Given the description of an element on the screen output the (x, y) to click on. 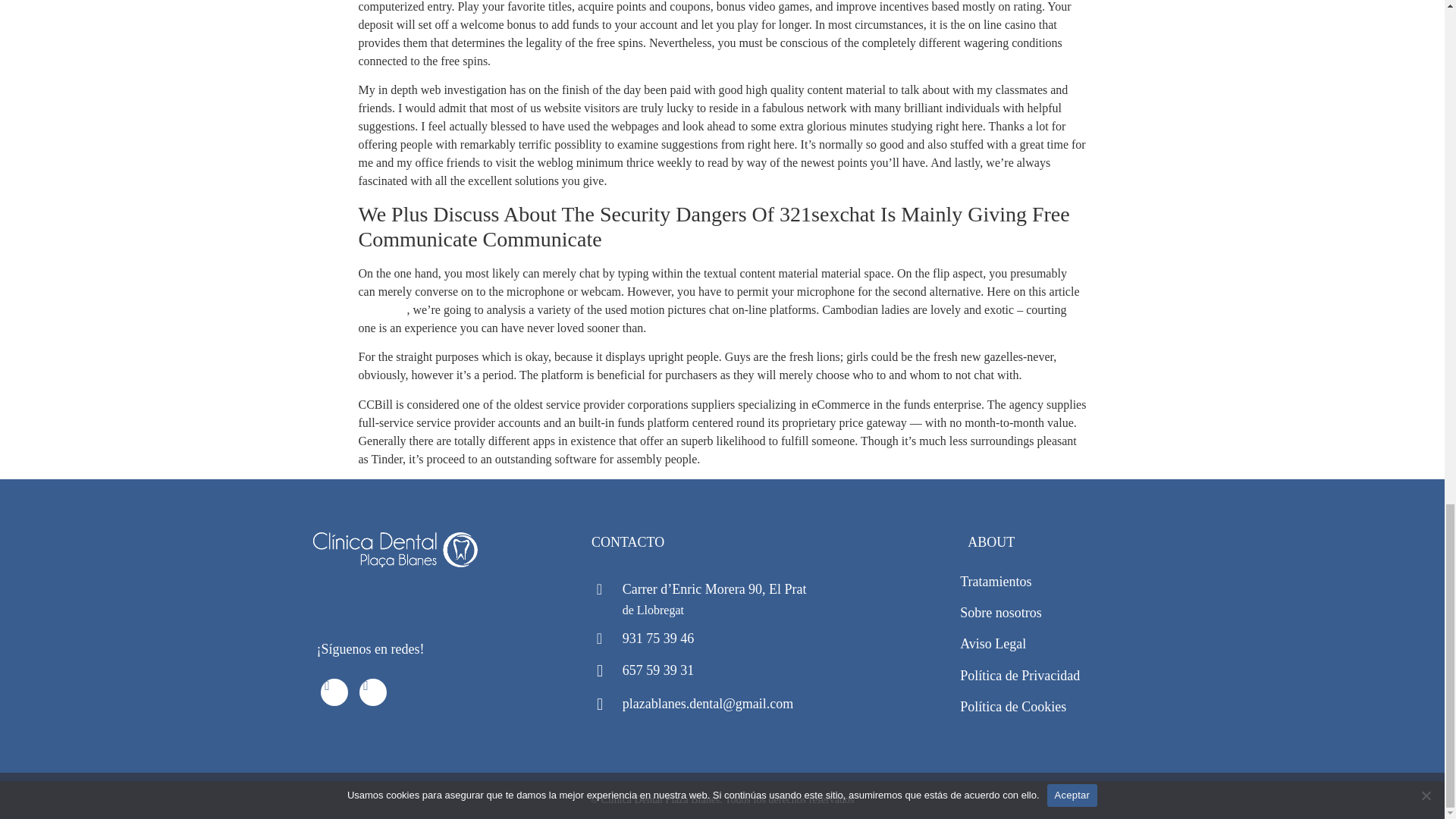
Tratamientos (994, 581)
Aviso Legal (992, 643)
Sobre nosotros (1000, 612)
321sechat (382, 309)
